Given the description of an element on the screen output the (x, y) to click on. 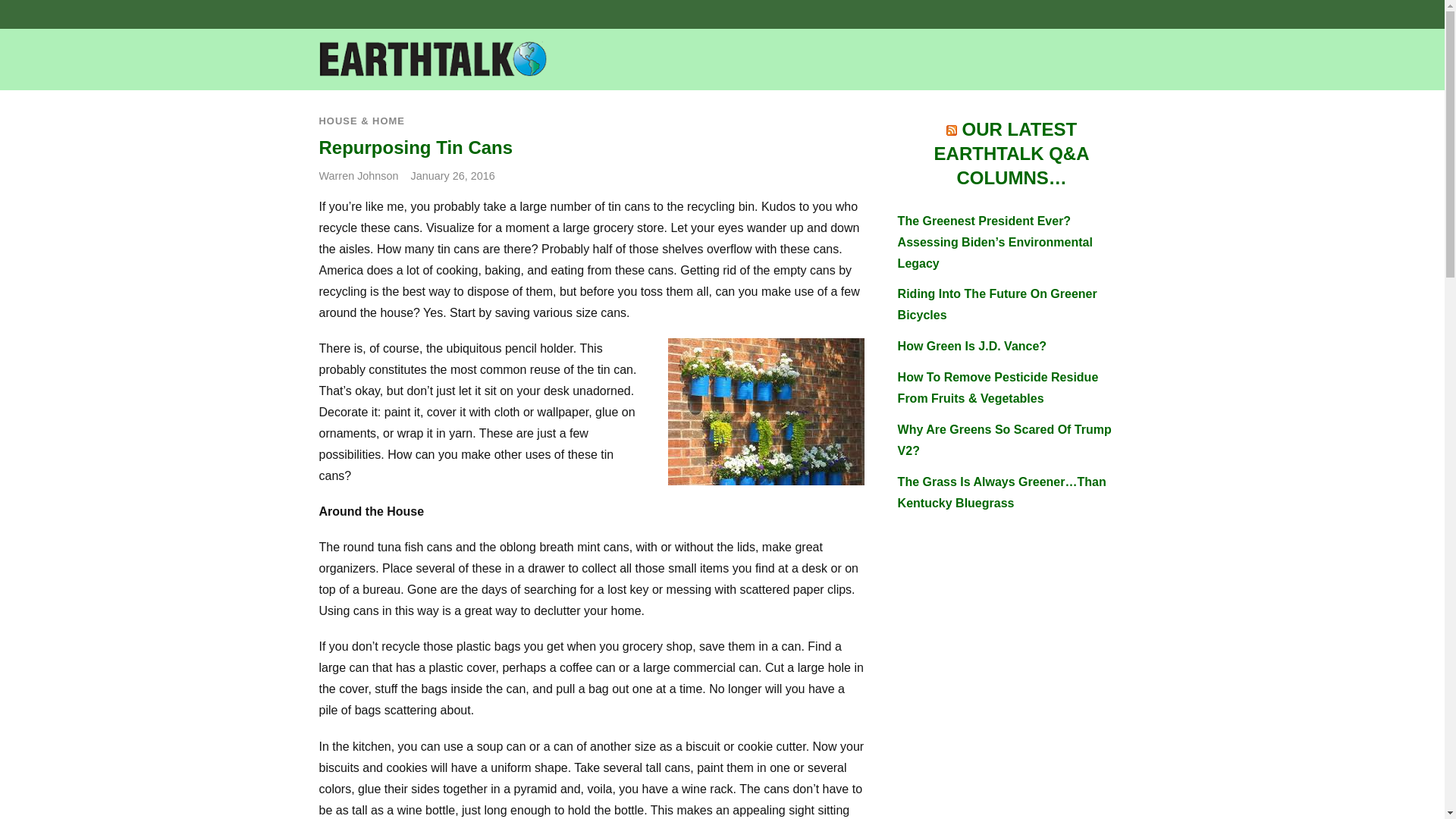
Why Are Greens So Scared Of Trump V2? (1005, 440)
EarthTalk.org (432, 67)
Repurposing Tin Cans (415, 147)
How Green Is J.D. Vance? (972, 345)
Repurposing Tin Cans (766, 411)
Riding Into The Future On Greener Bicycles (997, 304)
Warren Johnson (357, 175)
